Given the description of an element on the screen output the (x, y) to click on. 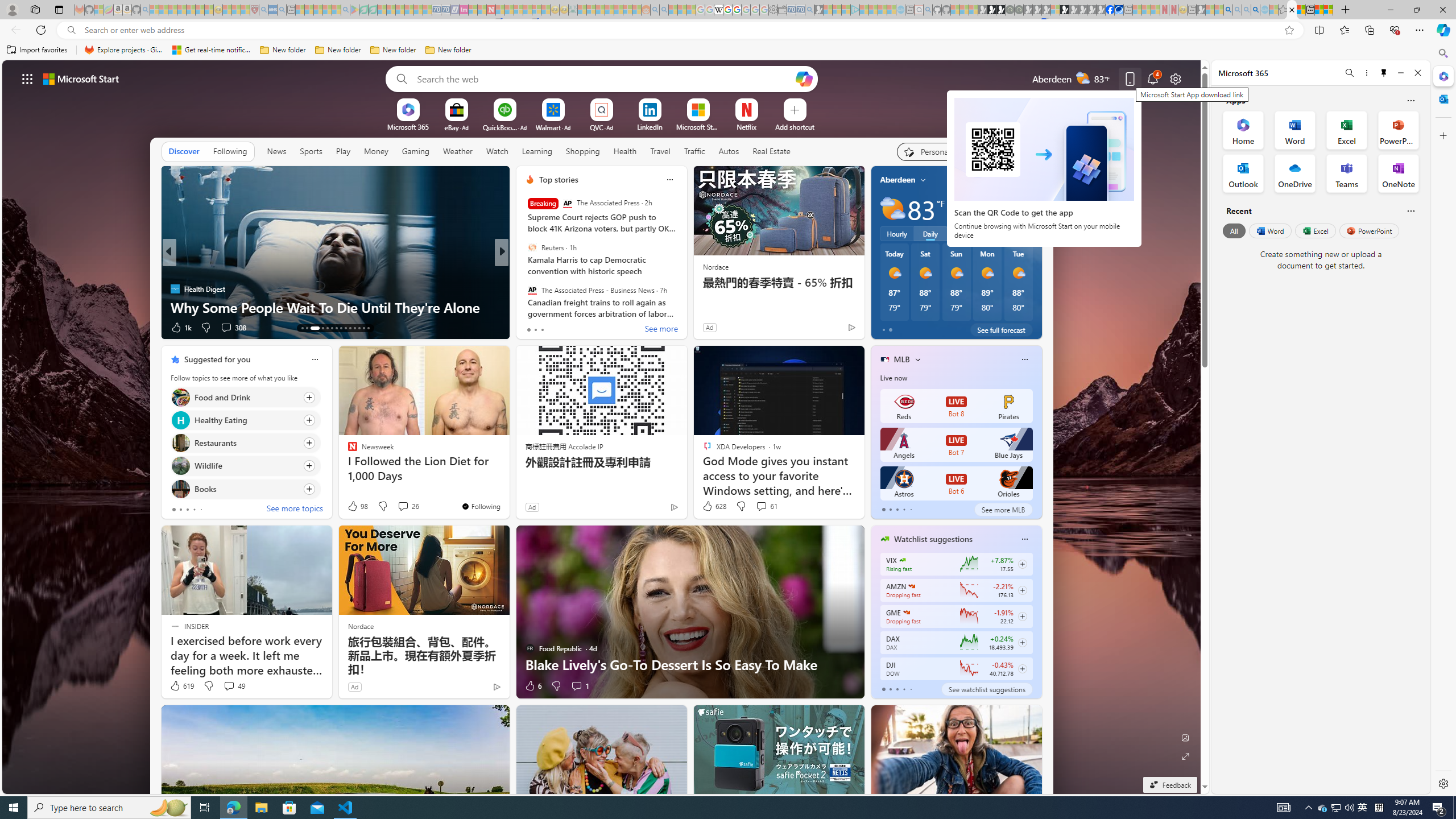
AutomationID: tab-13 (301, 328)
Click to follow topic Books (245, 488)
How to clear the cache on your iPhone (and why you should) (684, 298)
AutomationID: tab-25 (363, 328)
659 Like (532, 327)
AutomationID: tab-24 (358, 328)
2k Like (530, 327)
Click to follow topic Healthy Eating (245, 419)
AirNow.gov (1118, 9)
AutomationID: tab-19 (336, 328)
